Given the description of an element on the screen output the (x, y) to click on. 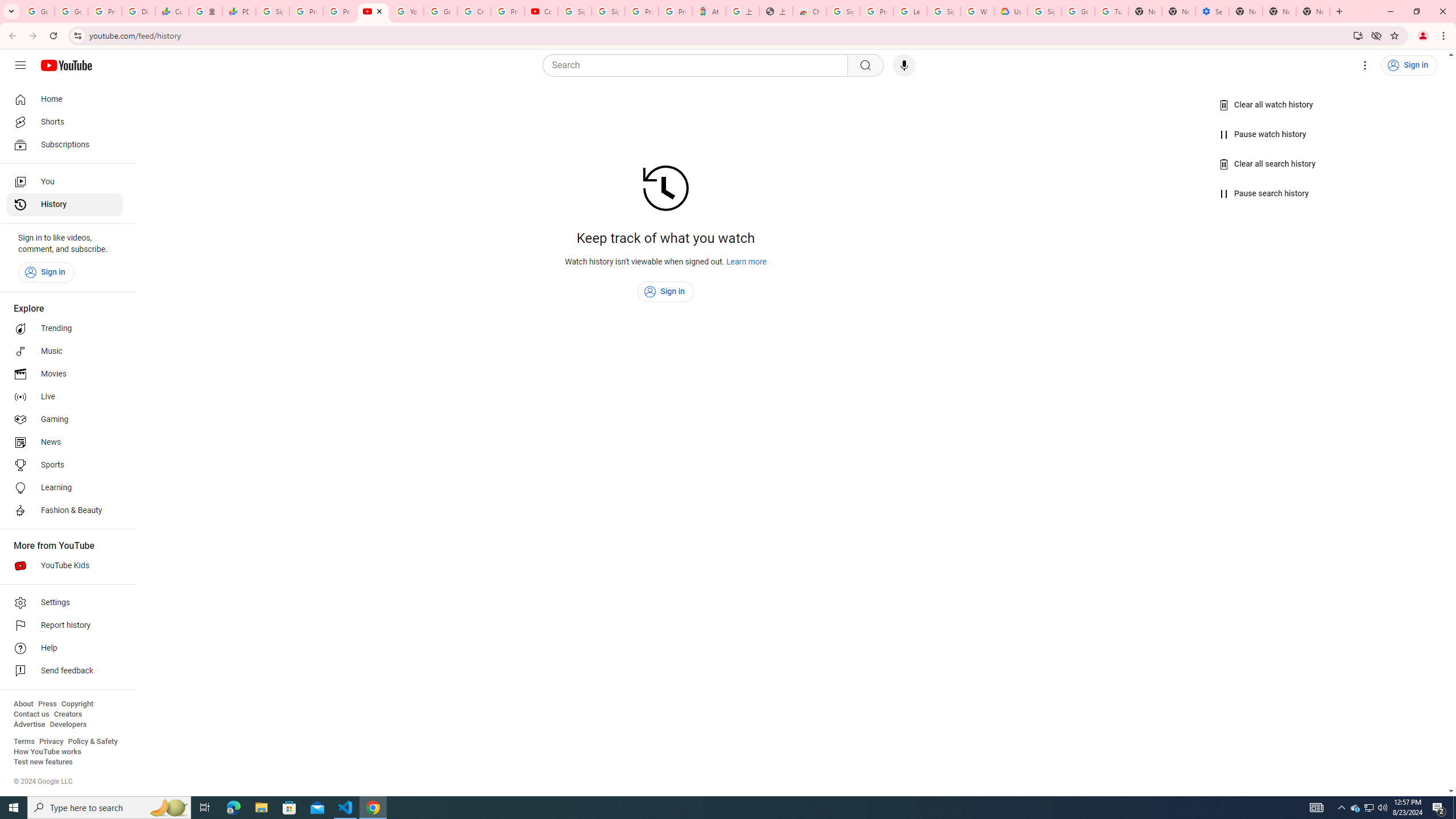
Report history (64, 625)
Pause search history (1264, 193)
Settings (1365, 65)
Help (64, 648)
Google Workspace Admin Community (37, 11)
PDD Holdings Inc - ADR (PDD) Price & News - Google Finance (238, 11)
YouTube Home (66, 65)
Movies (64, 373)
Settings (64, 602)
